Given the description of an element on the screen output the (x, y) to click on. 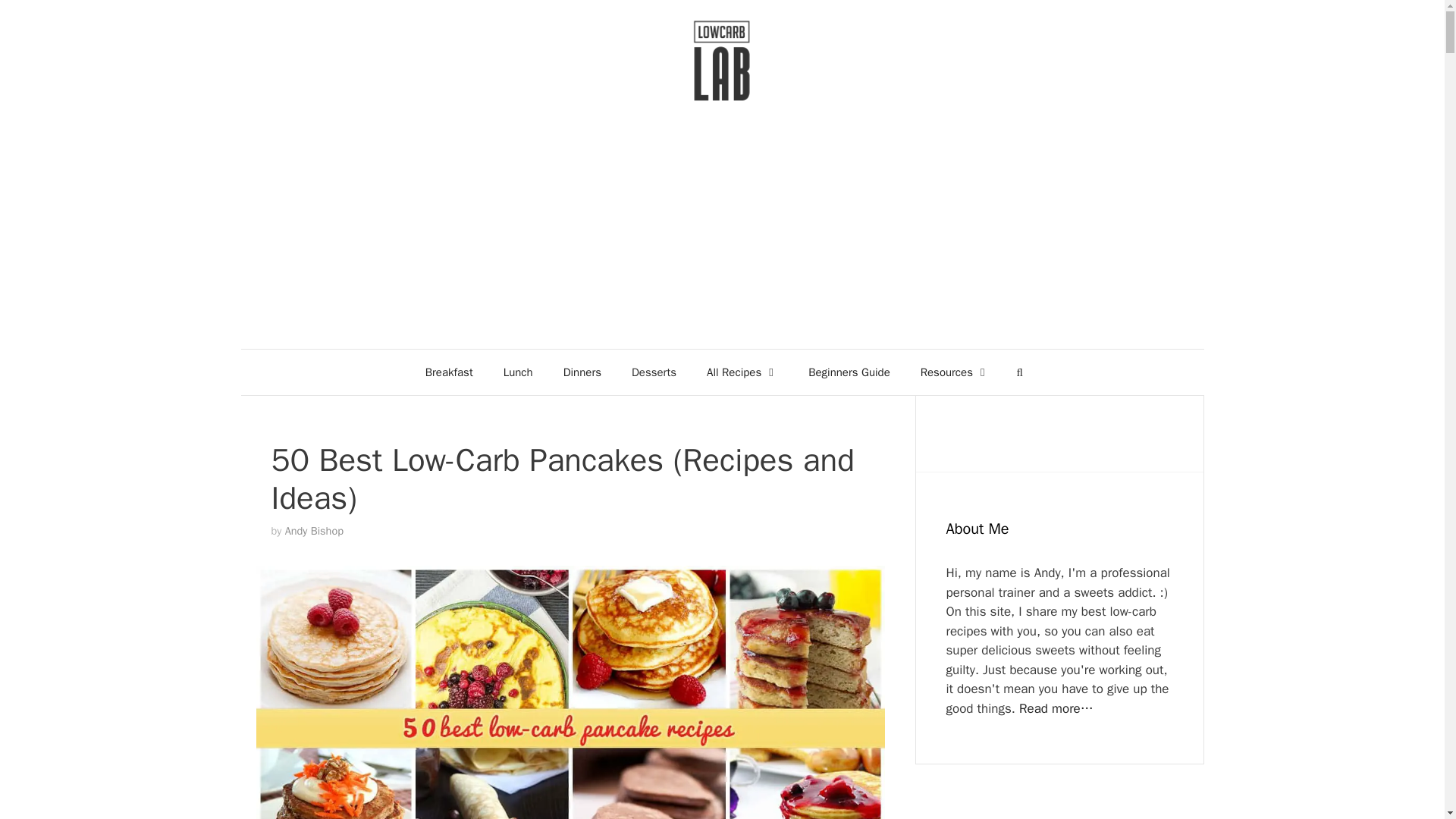
Resources (954, 371)
Desserts (653, 371)
Andy Bishop (314, 530)
Dinners (581, 371)
All Recipes (742, 371)
View all posts by Andy Bishop (314, 530)
Lunch (517, 371)
Beginners Guide (849, 371)
Breakfast (448, 371)
